Given the description of an element on the screen output the (x, y) to click on. 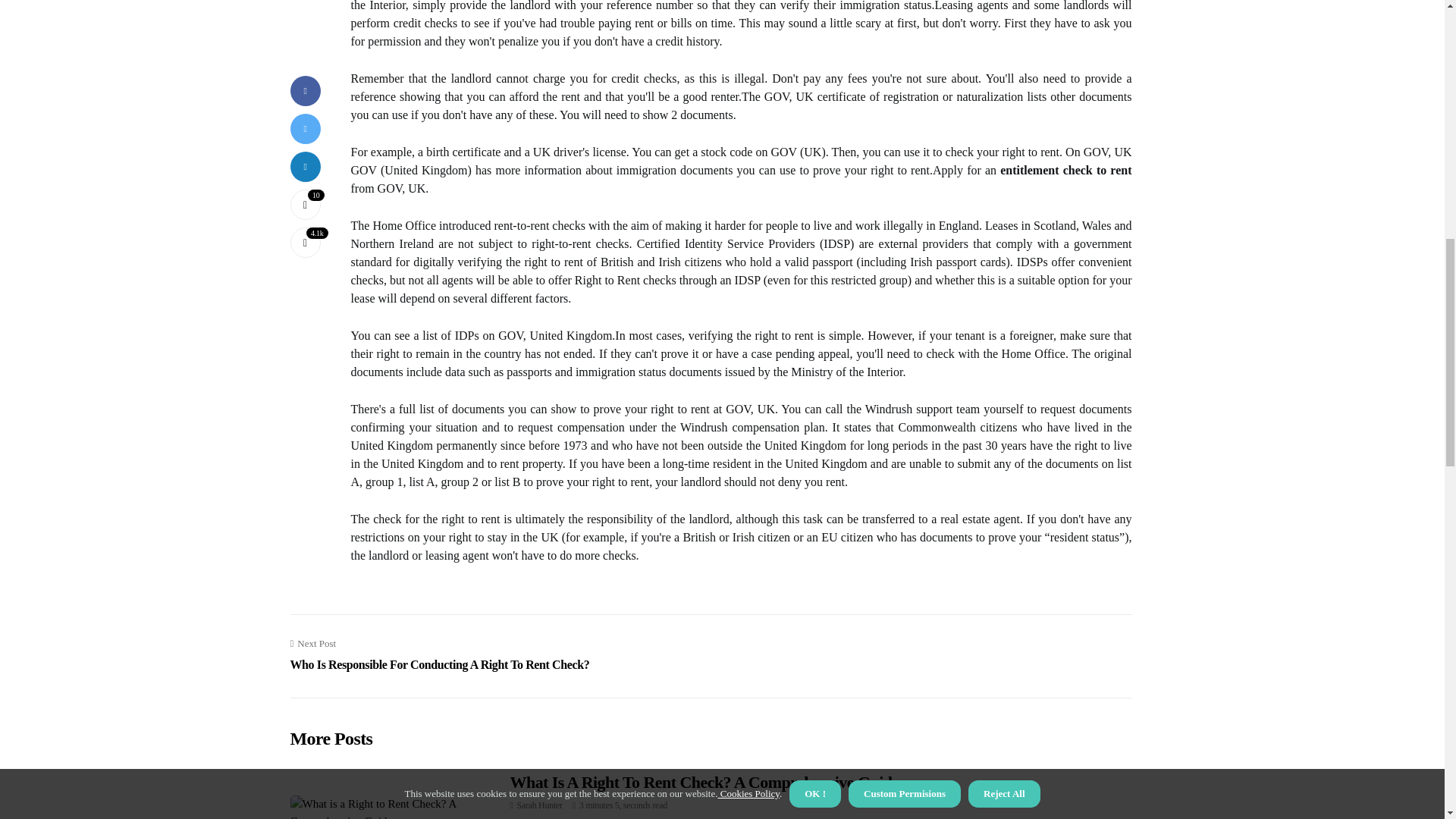
What Is A Right To Rent Check? A Comprehensive Guide (703, 782)
Posts by Sarah Hunter (539, 805)
Sarah Hunter (539, 805)
